Given the description of an element on the screen output the (x, y) to click on. 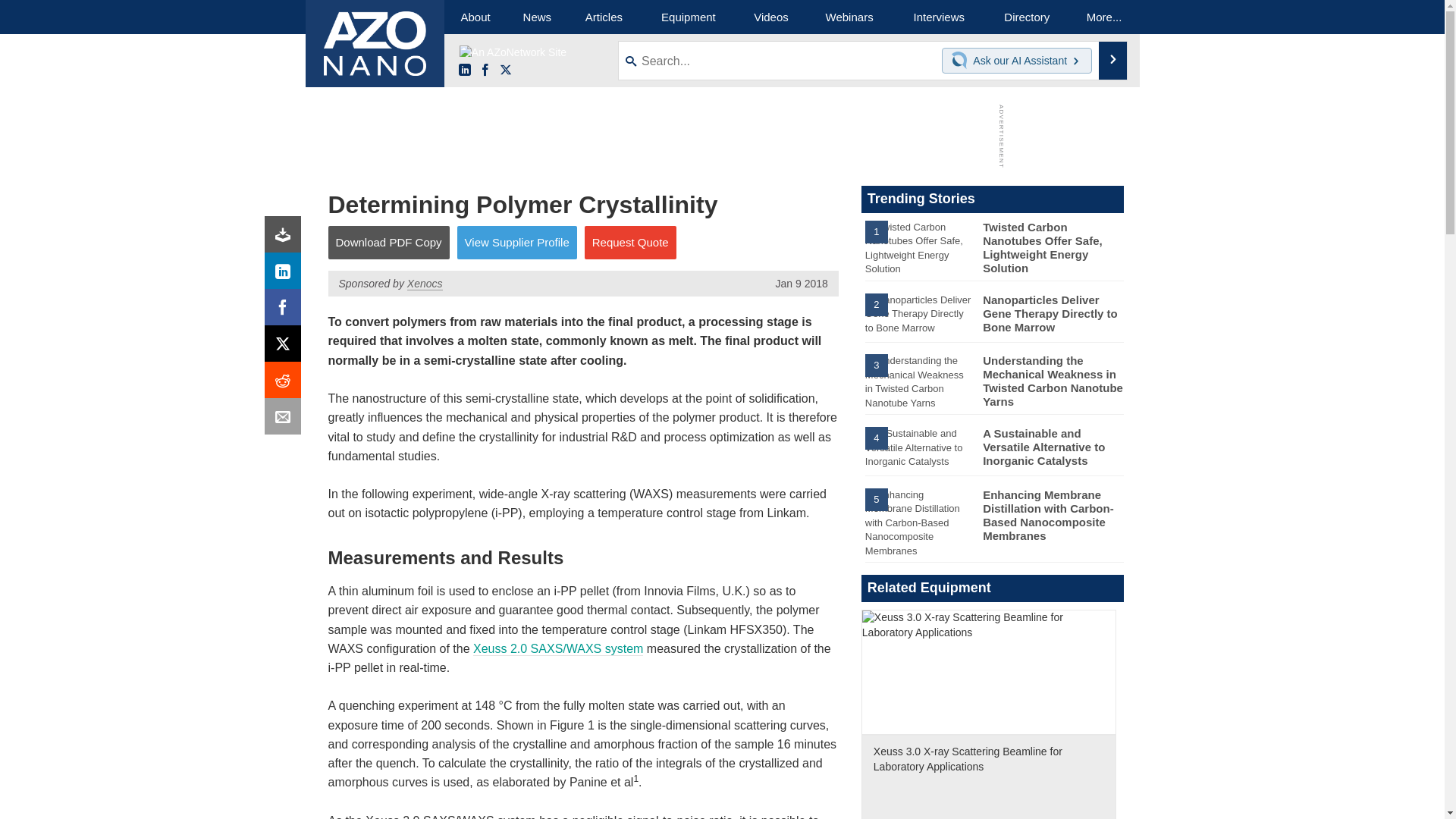
Reddit (285, 384)
Facebook (285, 311)
X (285, 348)
Facebook (485, 70)
More... (1104, 17)
Webinars (849, 17)
Videos (770, 17)
Equipment (688, 17)
Directory (1026, 17)
About (475, 17)
LinkedIn (464, 70)
Download PDF copy (285, 238)
Articles (603, 17)
Chat with our AI Assistant (962, 60)
